Given the description of an element on the screen output the (x, y) to click on. 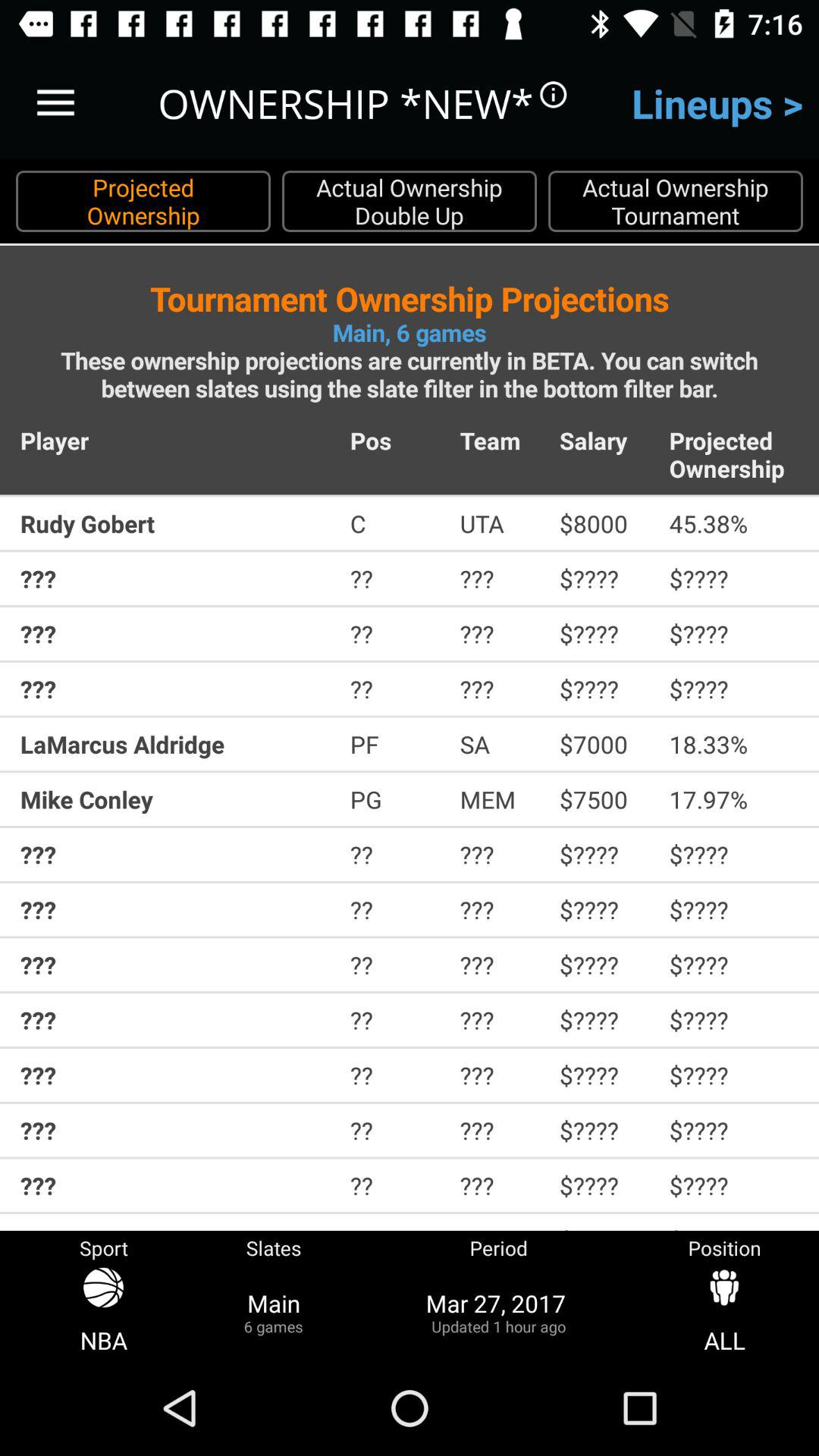
open the icon next to ownership *new* item (55, 103)
